Given the description of an element on the screen output the (x, y) to click on. 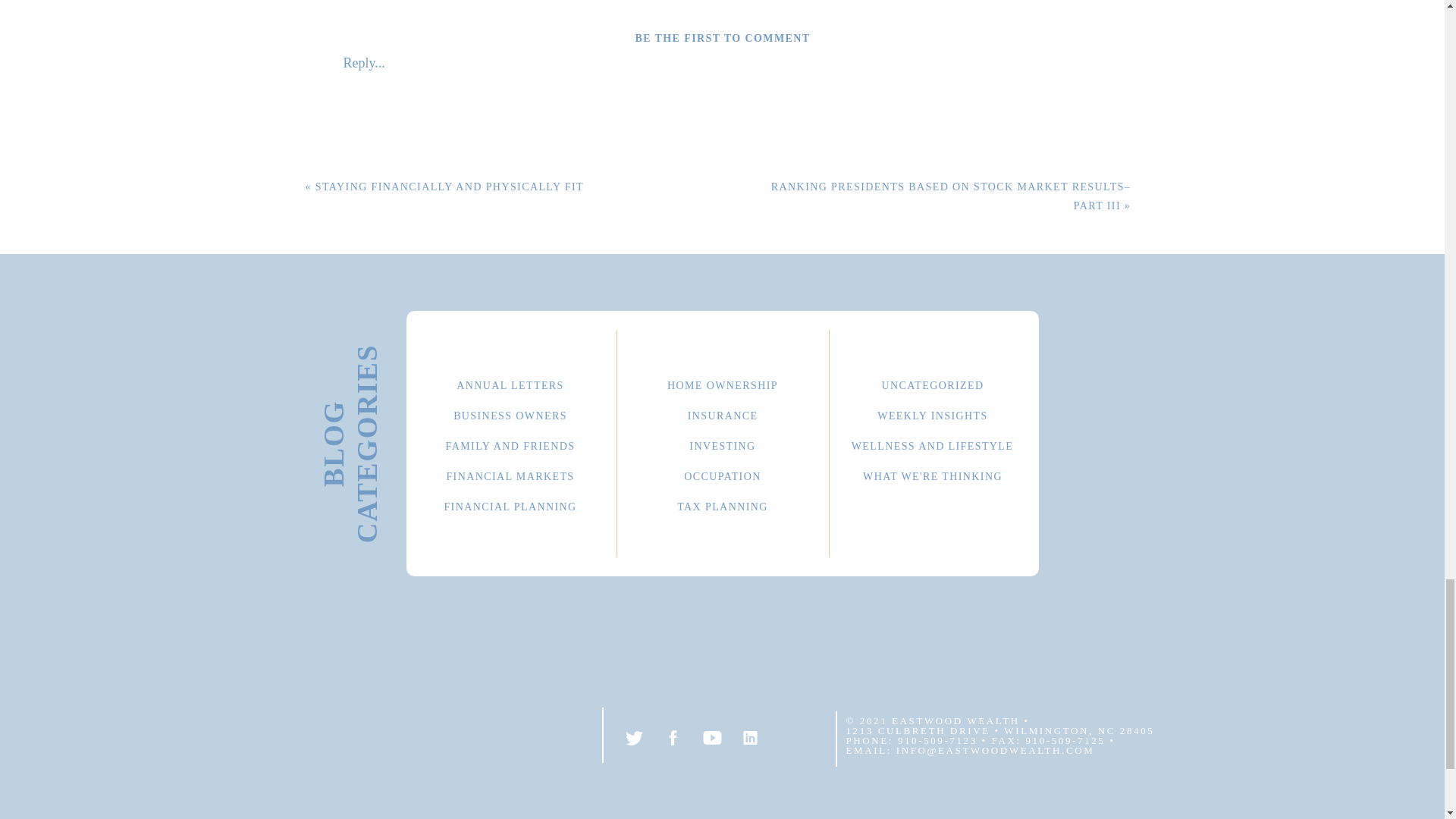
WELLNESS AND LIFESTYLE (932, 443)
BE THE FIRST TO COMMENT (721, 38)
OCCUPATION (721, 473)
FAMILY AND FRIENDS (509, 443)
TAX PLANNING (721, 504)
WEEKLY INSIGHTS (933, 413)
INVESTING (721, 443)
INSURANCE (721, 413)
UNCATEGORIZED (933, 382)
ANNUAL LETTERS (509, 382)
FINANCIAL PLANNING (509, 504)
HOME OWNERSHIP (721, 382)
BUSINESS OWNERS (509, 413)
STAYING FINANCIALLY AND PHYSICALLY FIT (449, 186)
FINANCIAL MARKETS (509, 473)
